Given the description of an element on the screen output the (x, y) to click on. 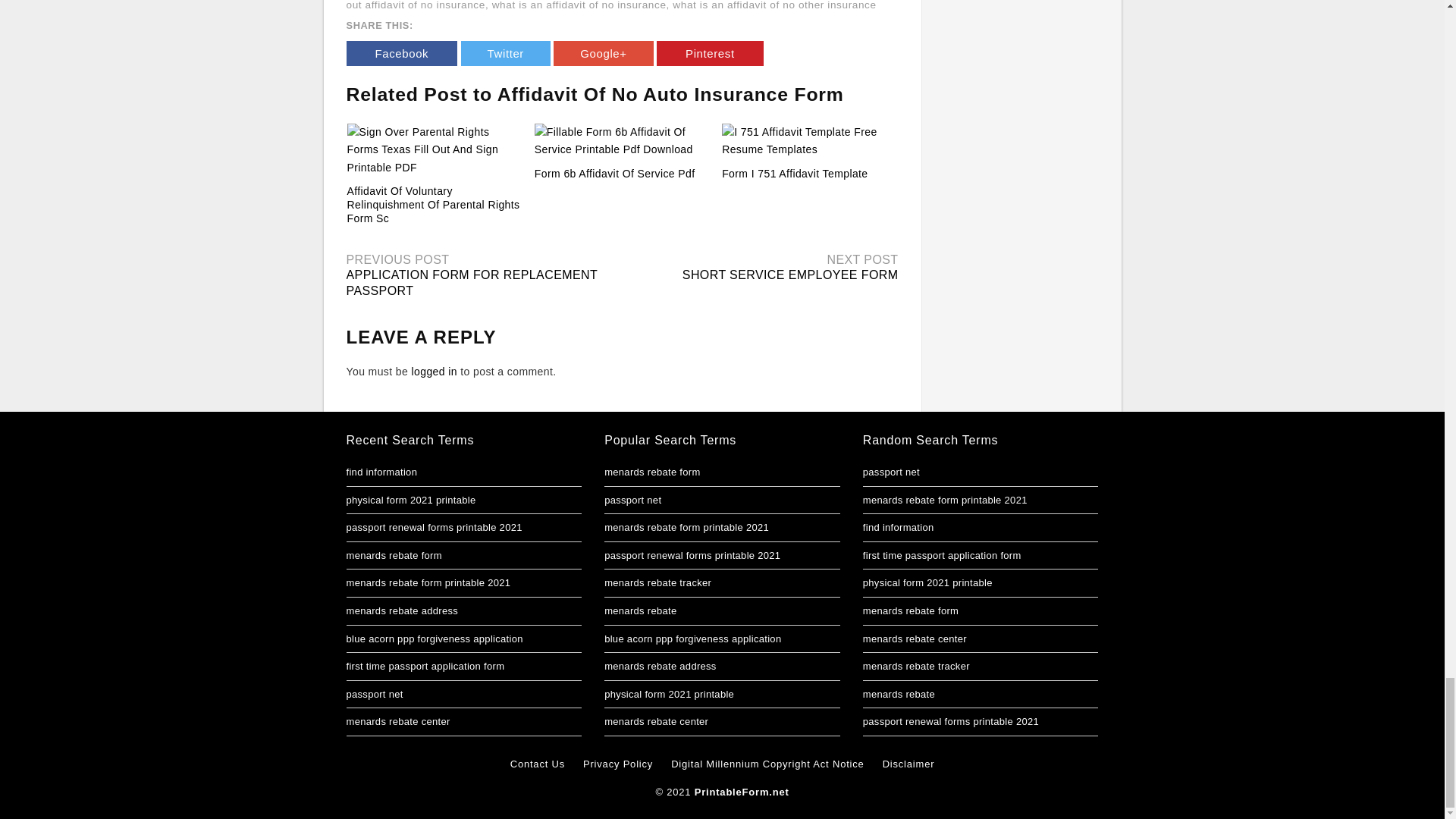
Form 6b Affidavit Of Service Pdf (614, 173)
APPLICATION FORM FOR REPLACEMENT PASSPORT (471, 282)
what is an affidavit of no other insurance (774, 5)
how to fill out affidavit of no insurance (616, 5)
what is an affidavit of no insurance (579, 5)
SHORT SERVICE EMPLOYEE FORM (790, 274)
Facebook (401, 53)
Pinterest (709, 53)
Twitter (505, 53)
Form I 751 Affidavit Template (794, 173)
